Given the description of an element on the screen output the (x, y) to click on. 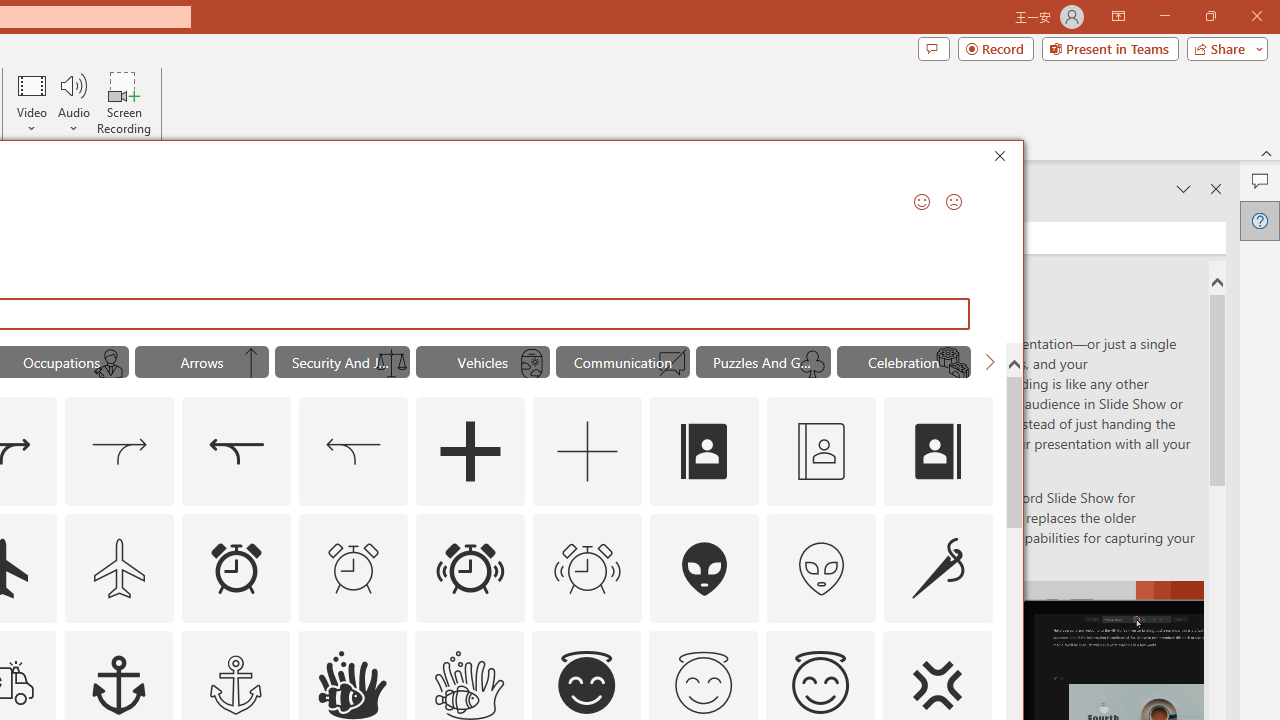
Next Search Suggestion (990, 362)
"Security And Justice" Icons. (342, 362)
Send a Smile (922, 201)
AutomationID: Icons_Add_M (587, 452)
AutomationID: Icons_CommentSlashSilence_M (671, 364)
AutomationID: Icons_Acquisition_LTR_M (120, 452)
AutomationID: Icons_AlarmRinging_M (587, 568)
AutomationID: Icons_PlaneWindow_M (532, 364)
Send a Frown (954, 201)
AutomationID: Icons_JudgeMale_M (111, 364)
AutomationID: Icons_Acquisition_RTL_M (353, 452)
AutomationID: _134_Angel_Face_A (586, 682)
